Given the description of an element on the screen output the (x, y) to click on. 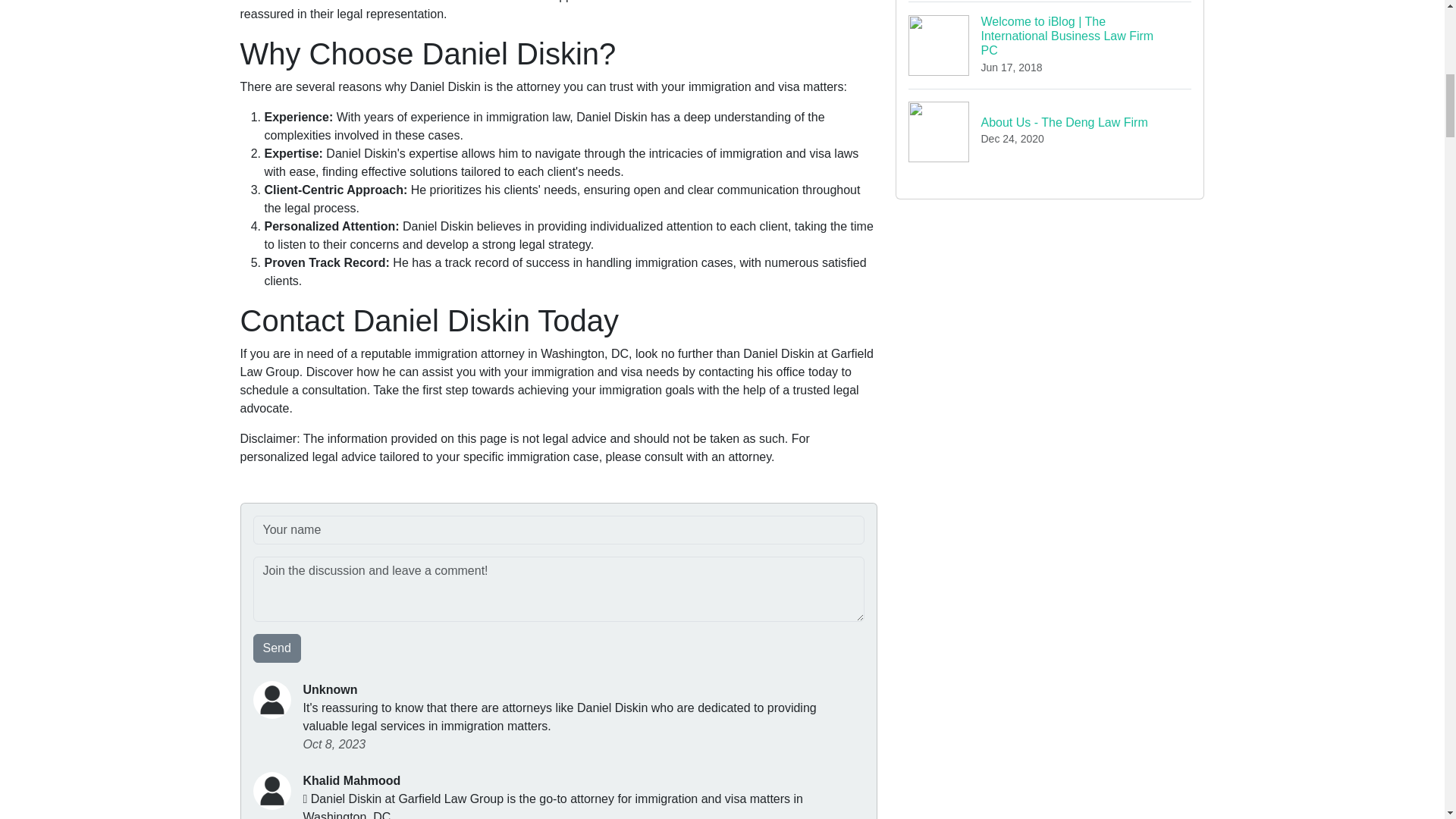
Send (277, 647)
